Given the description of an element on the screen output the (x, y) to click on. 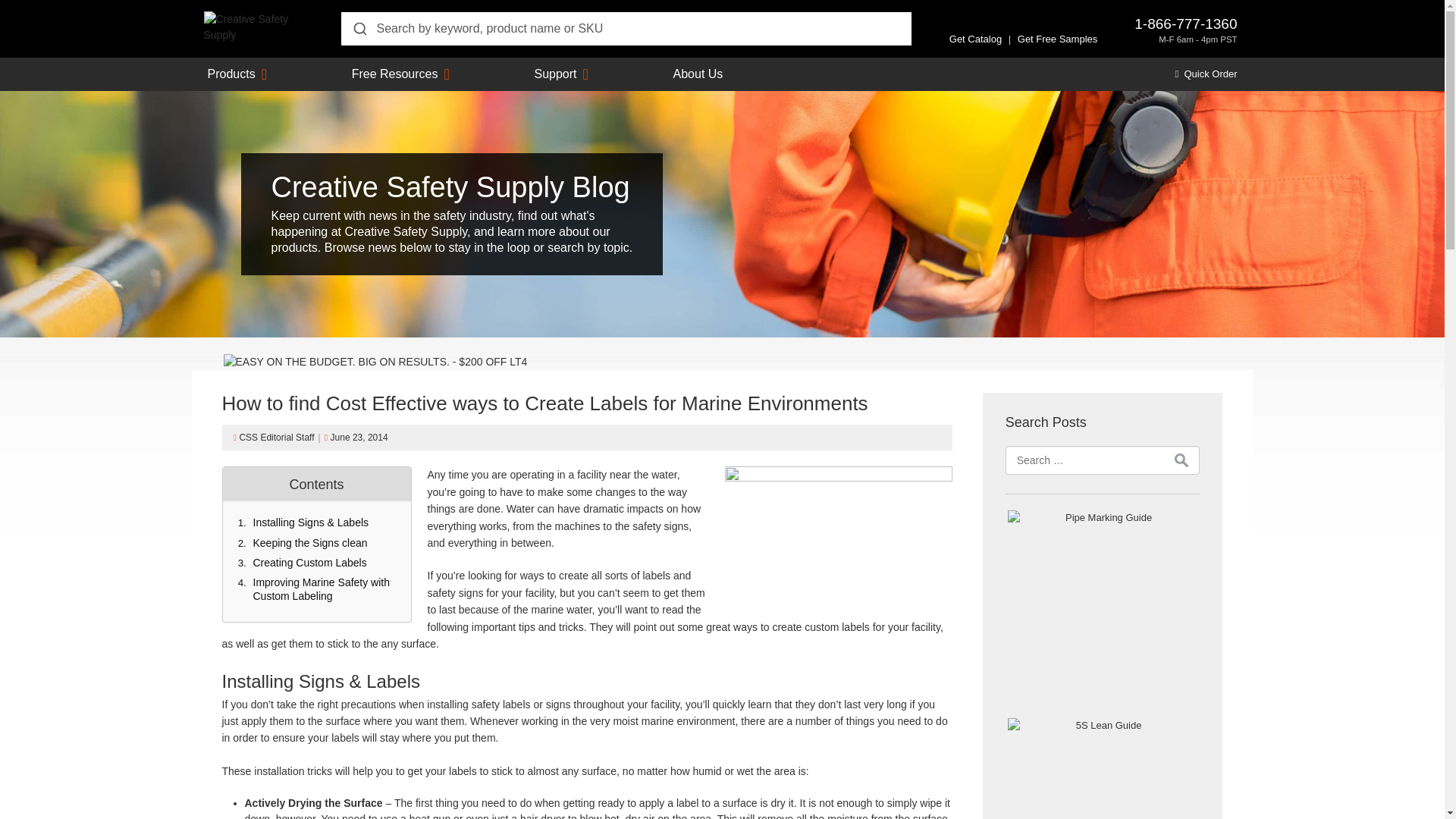
Search (1181, 459)
Get Free Samples (1057, 39)
Products (232, 73)
Get Catalog (975, 39)
Creative Safety Supply logo (255, 25)
Search (1181, 459)
1-866-777-1360 (1185, 23)
